Given the description of an element on the screen output the (x, y) to click on. 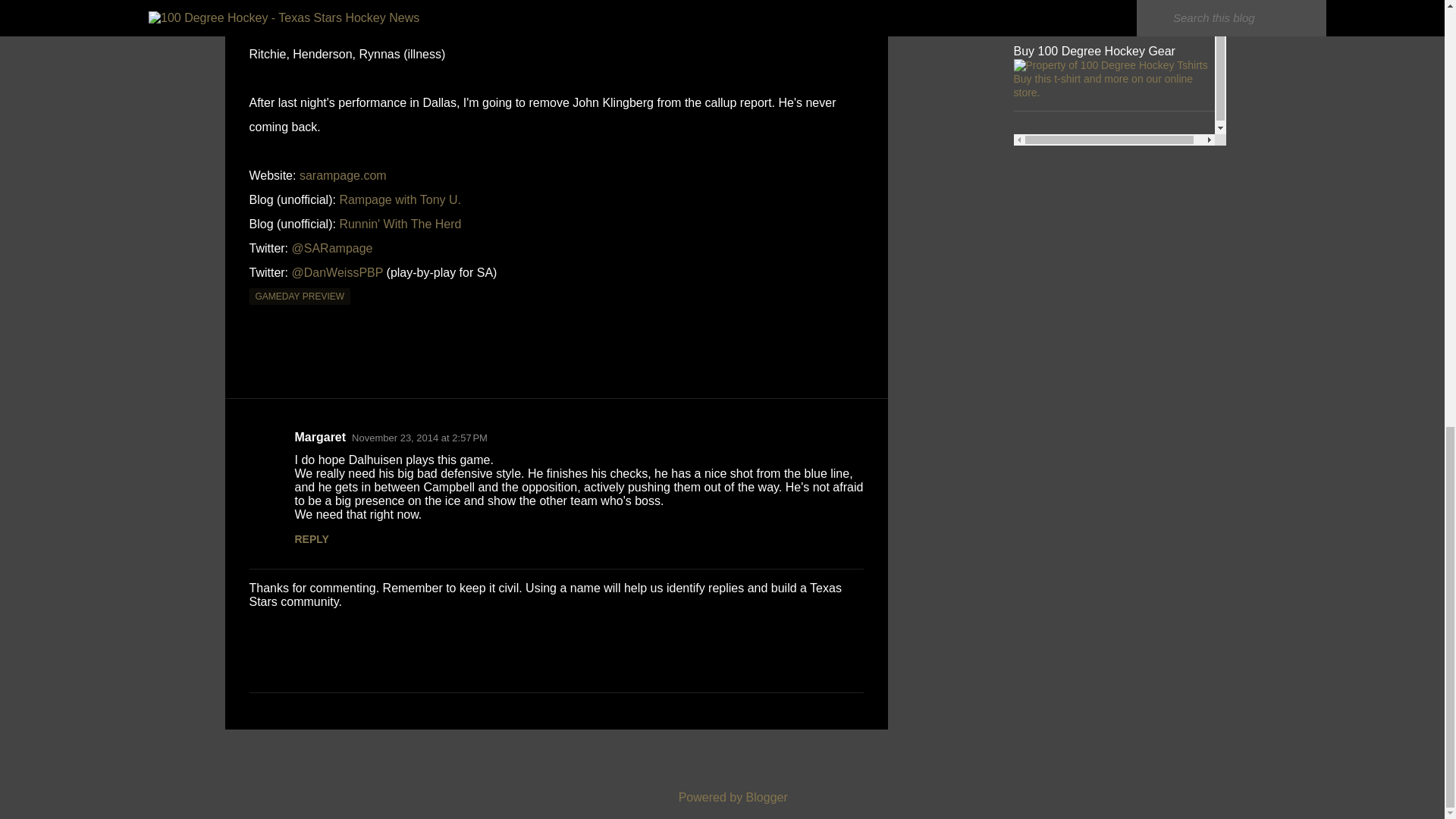
Powered by Blogger (721, 797)
Buy this t-shirt and more on our online store. (1102, 85)
REPLY (311, 539)
GAMEDAY PREVIEW (299, 296)
Rampage with Tony U. (400, 199)
Margaret (320, 436)
Runnin' With The Herd (400, 223)
sarampage.com (343, 174)
